Given the description of an element on the screen output the (x, y) to click on. 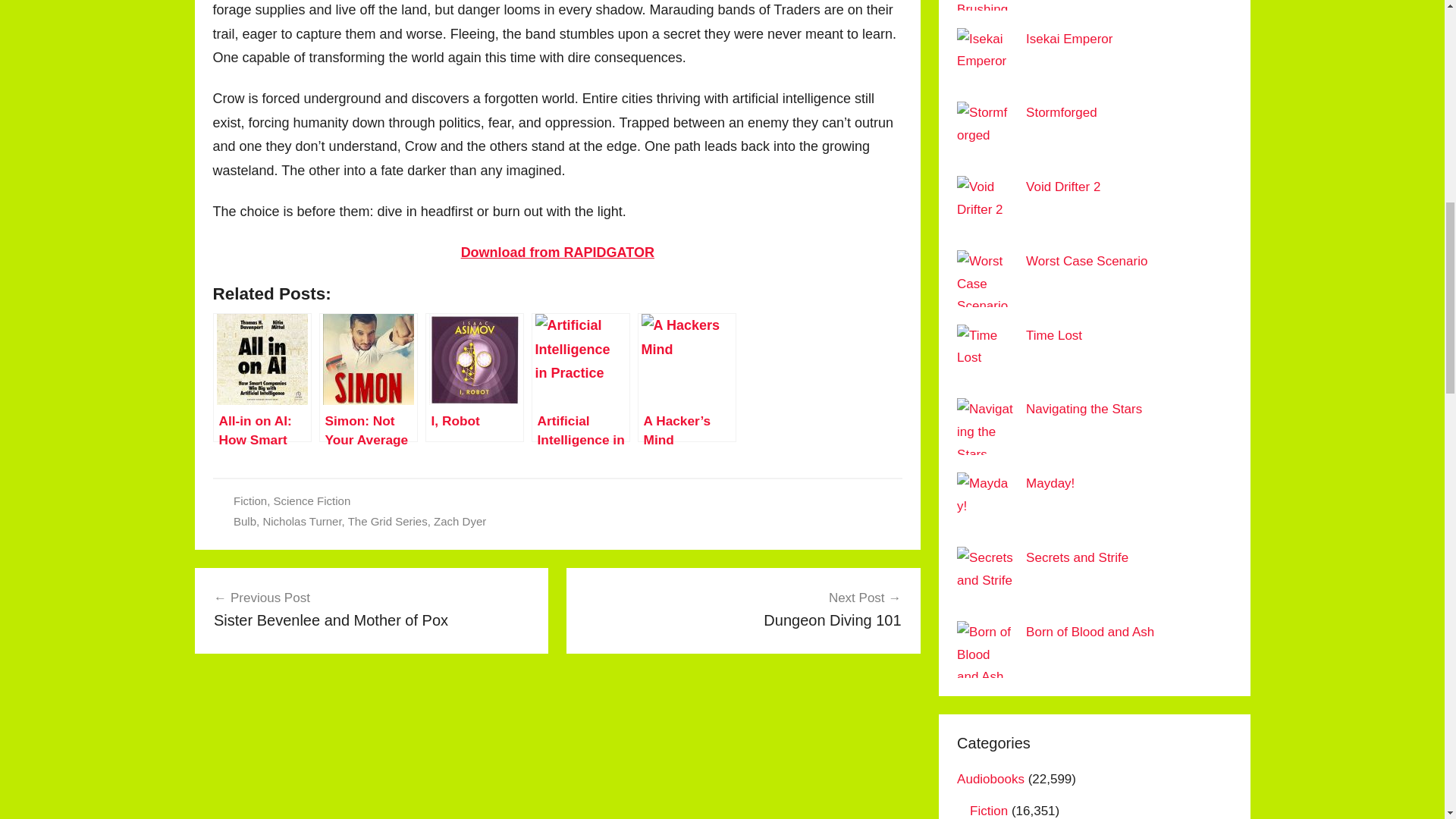
Time Lost (371, 608)
Stormforged (743, 608)
Fiction (1053, 335)
Isekai Emperor (1061, 112)
Worst Case Scenario (249, 500)
Science Fiction (1069, 38)
Bulb (1086, 260)
The Grid Series (311, 500)
